Given the description of an element on the screen output the (x, y) to click on. 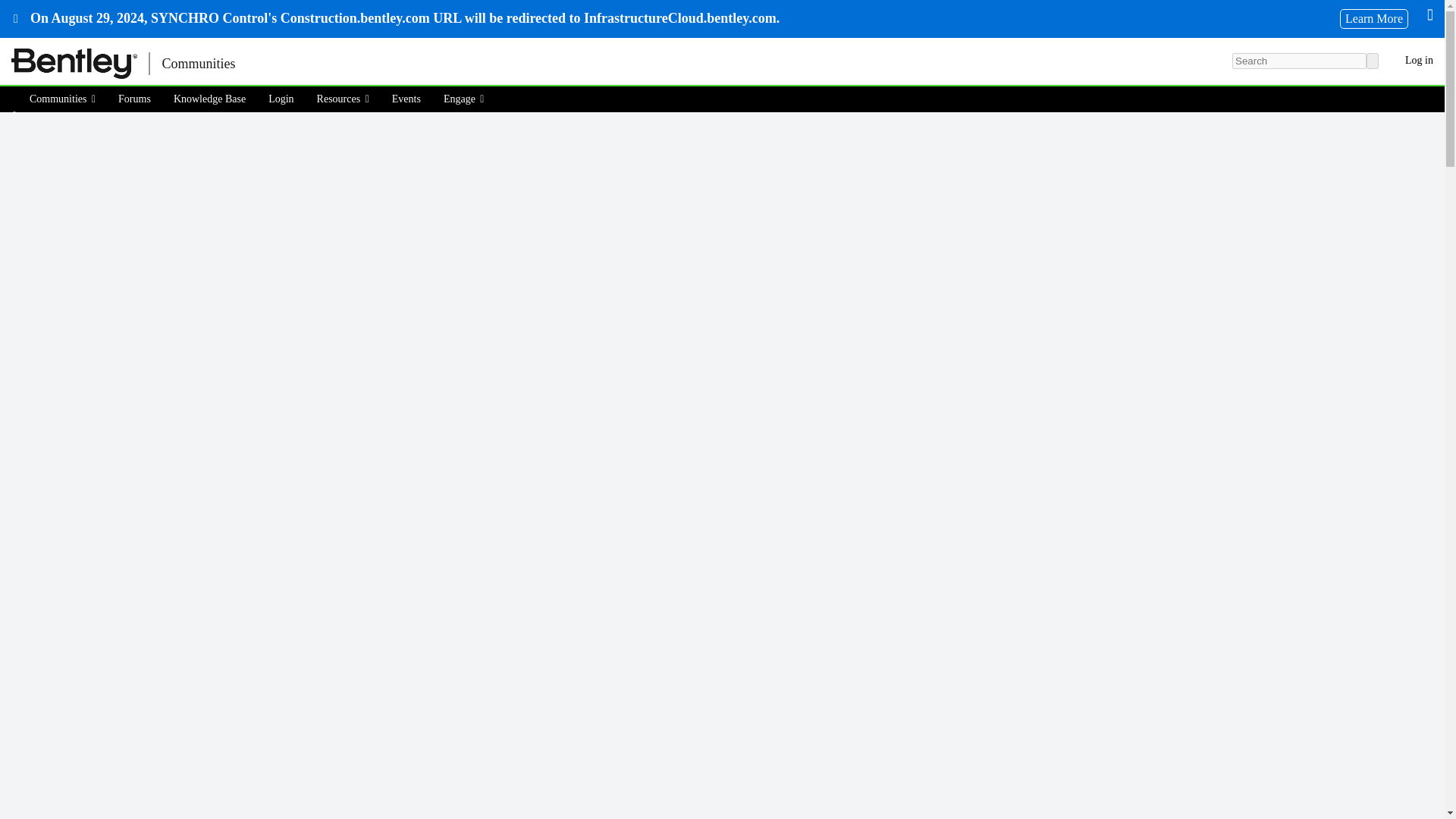
Forums (133, 99)
Engage (464, 99)
Communities (197, 63)
Login (280, 99)
Learn More (1373, 18)
Communities (67, 99)
Learn More (1373, 18)
Toggle navigation (273, 63)
Skip to main content (8, 48)
Resources (342, 99)
